Given the description of an element on the screen output the (x, y) to click on. 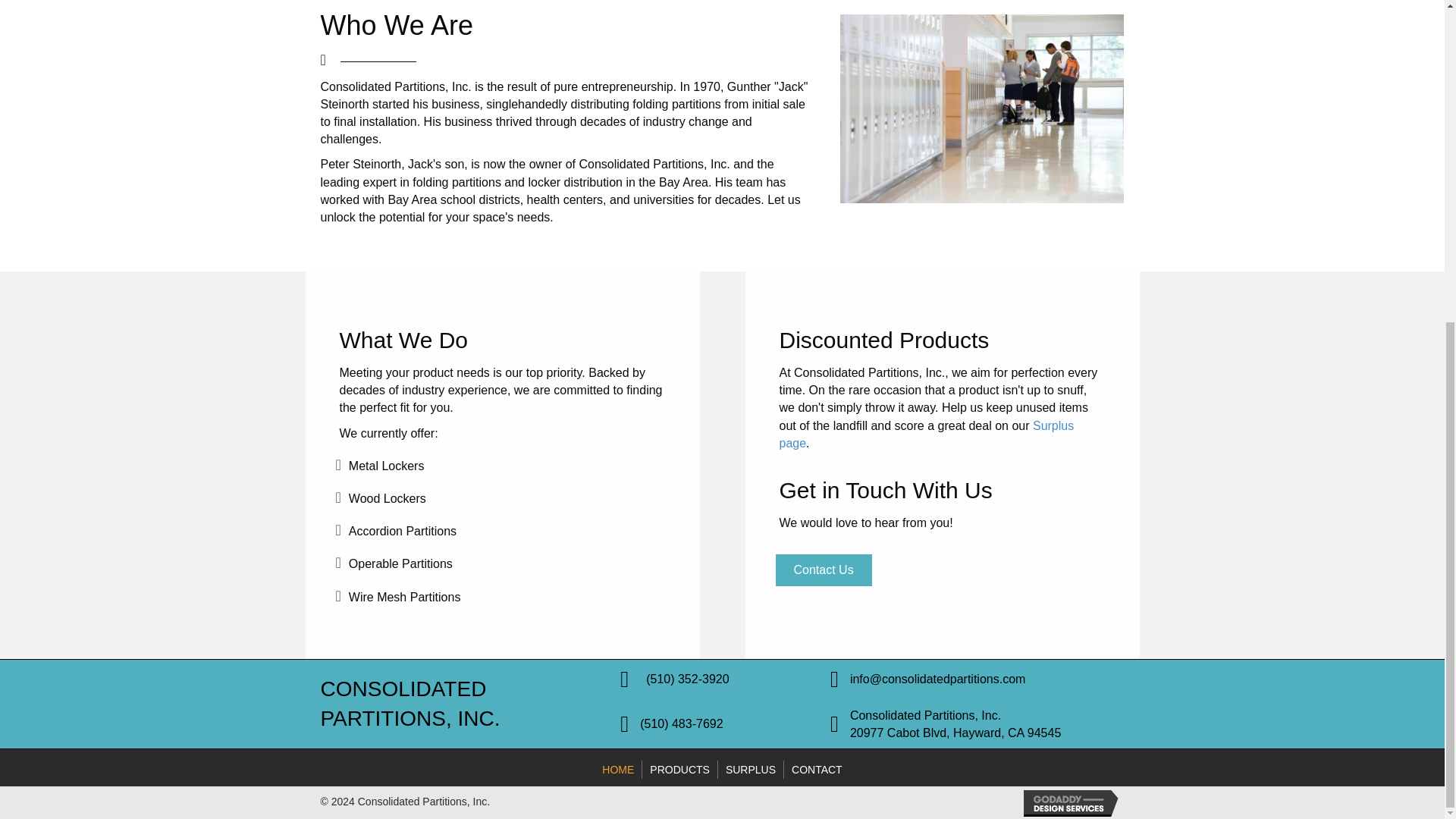
SURPLUS (750, 769)
20977 Cabot Blvd, Hayward, CA 94545 (955, 732)
CONTACT (817, 769)
Contact Us (822, 570)
HOME (618, 769)
CONSOLIDATED PARTITIONS, INC. (409, 703)
Consolidated Partitions, Inc. (409, 703)
PRODUCTS (679, 769)
Consolidated Partitions, Inc. (925, 715)
Surplus page (926, 434)
